Given the description of an element on the screen output the (x, y) to click on. 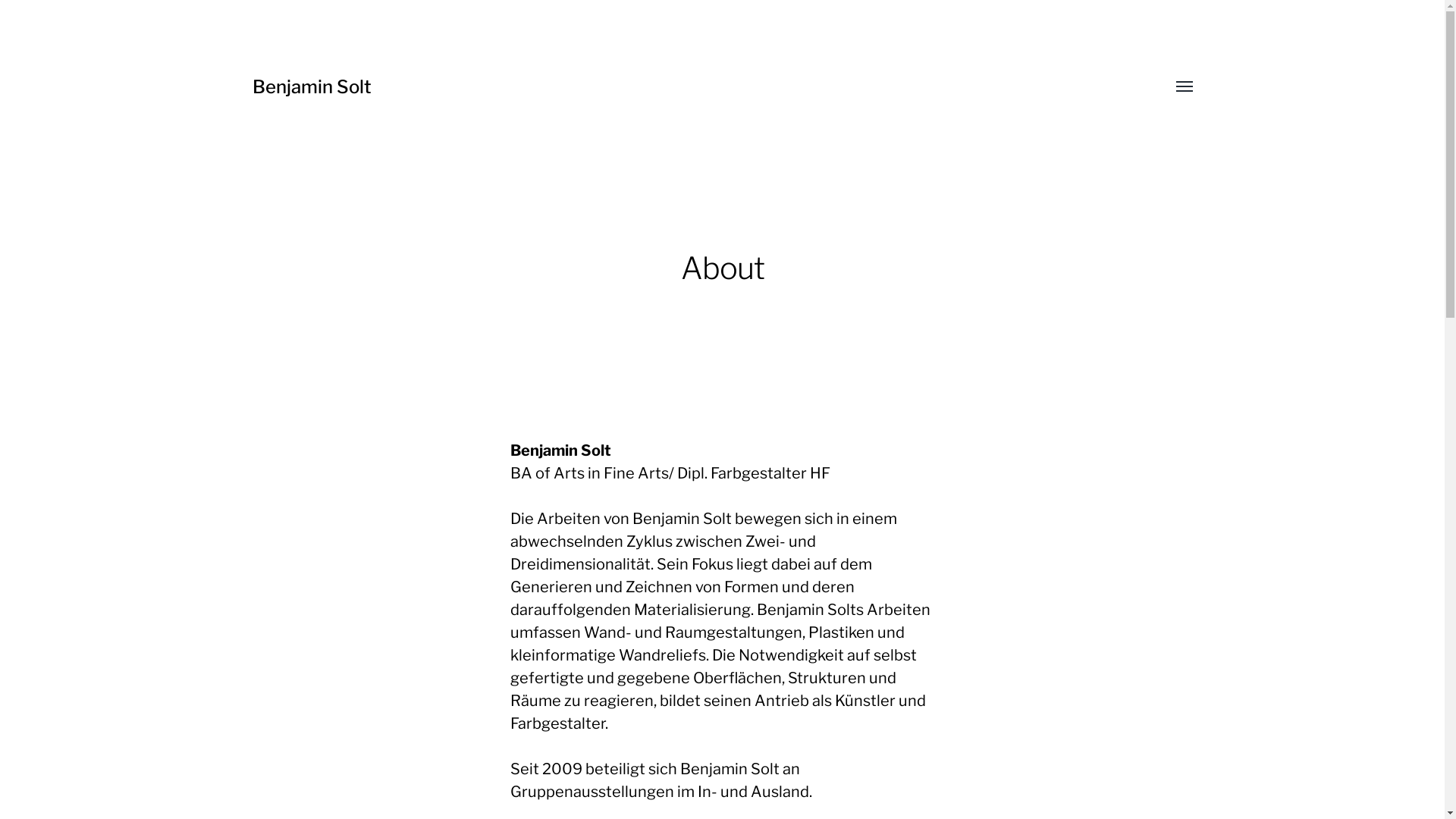
Benjamin Solt Element type: text (310, 86)
